Given the description of an element on the screen output the (x, y) to click on. 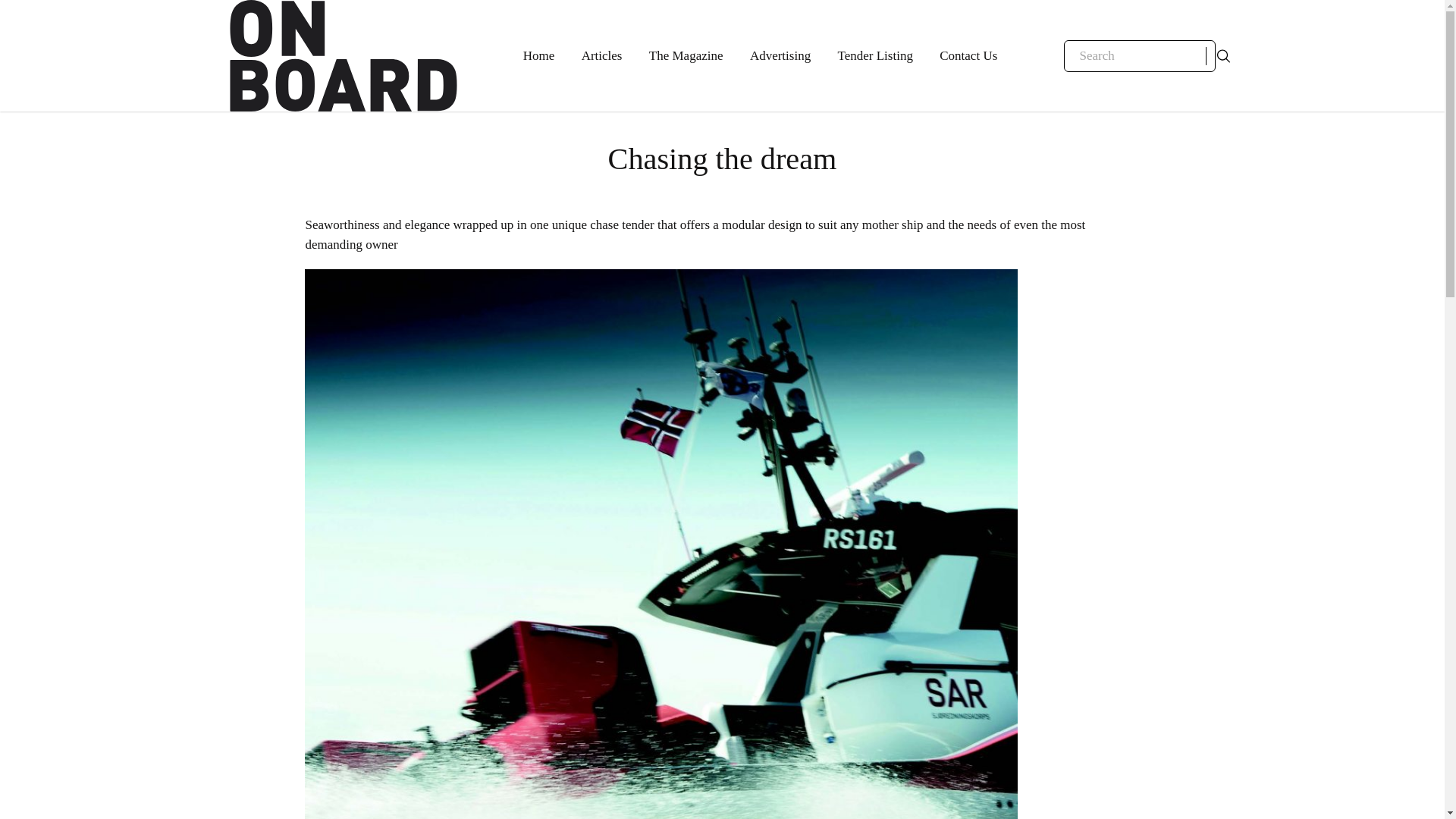
Advertising (779, 55)
Home (538, 55)
The Magazine (686, 55)
Tender Listing (875, 55)
Articles (601, 55)
Contact Us (968, 55)
